Given the description of an element on the screen output the (x, y) to click on. 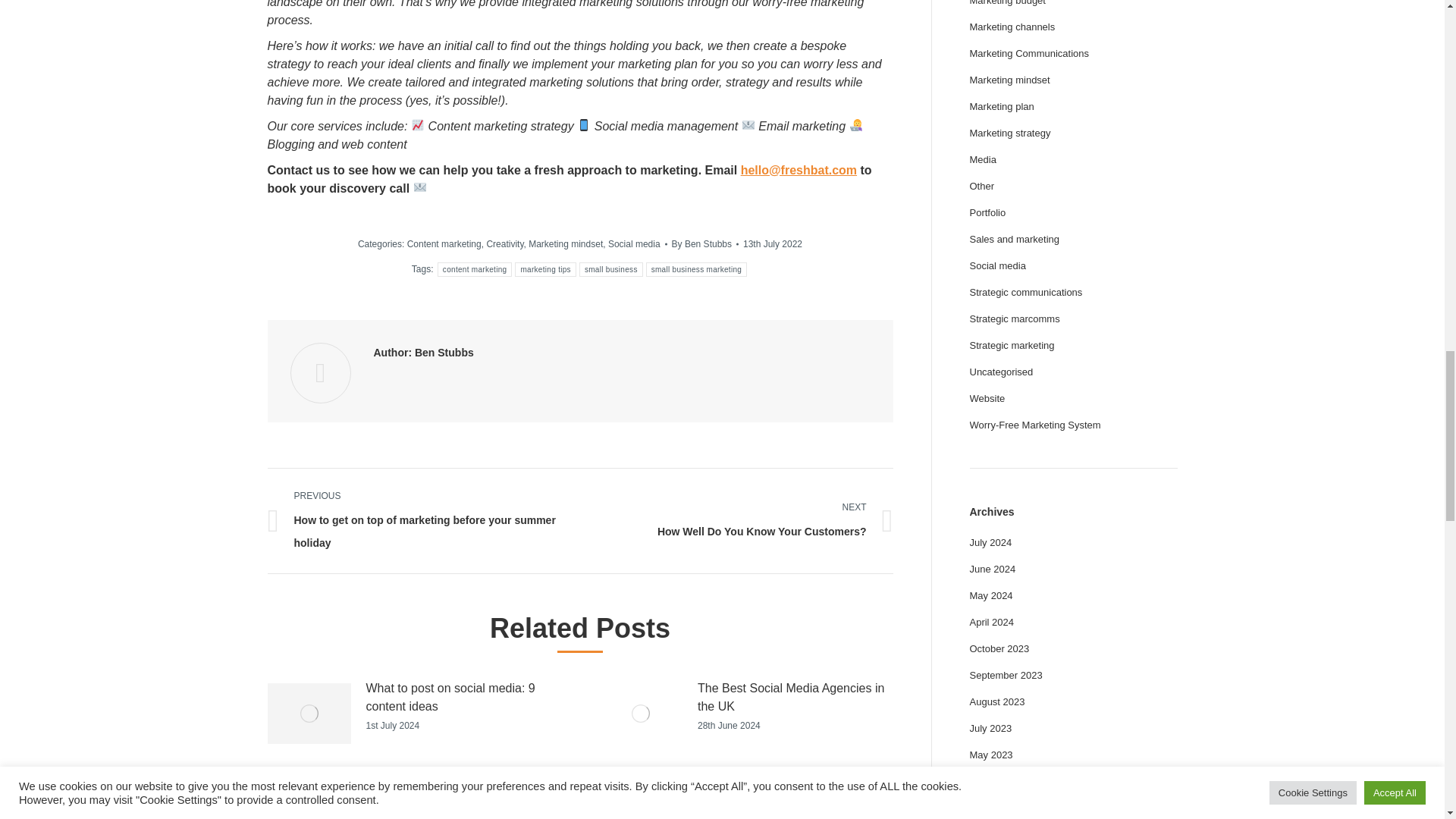
View all posts by Ben Stubbs (704, 243)
